Given the description of an element on the screen output the (x, y) to click on. 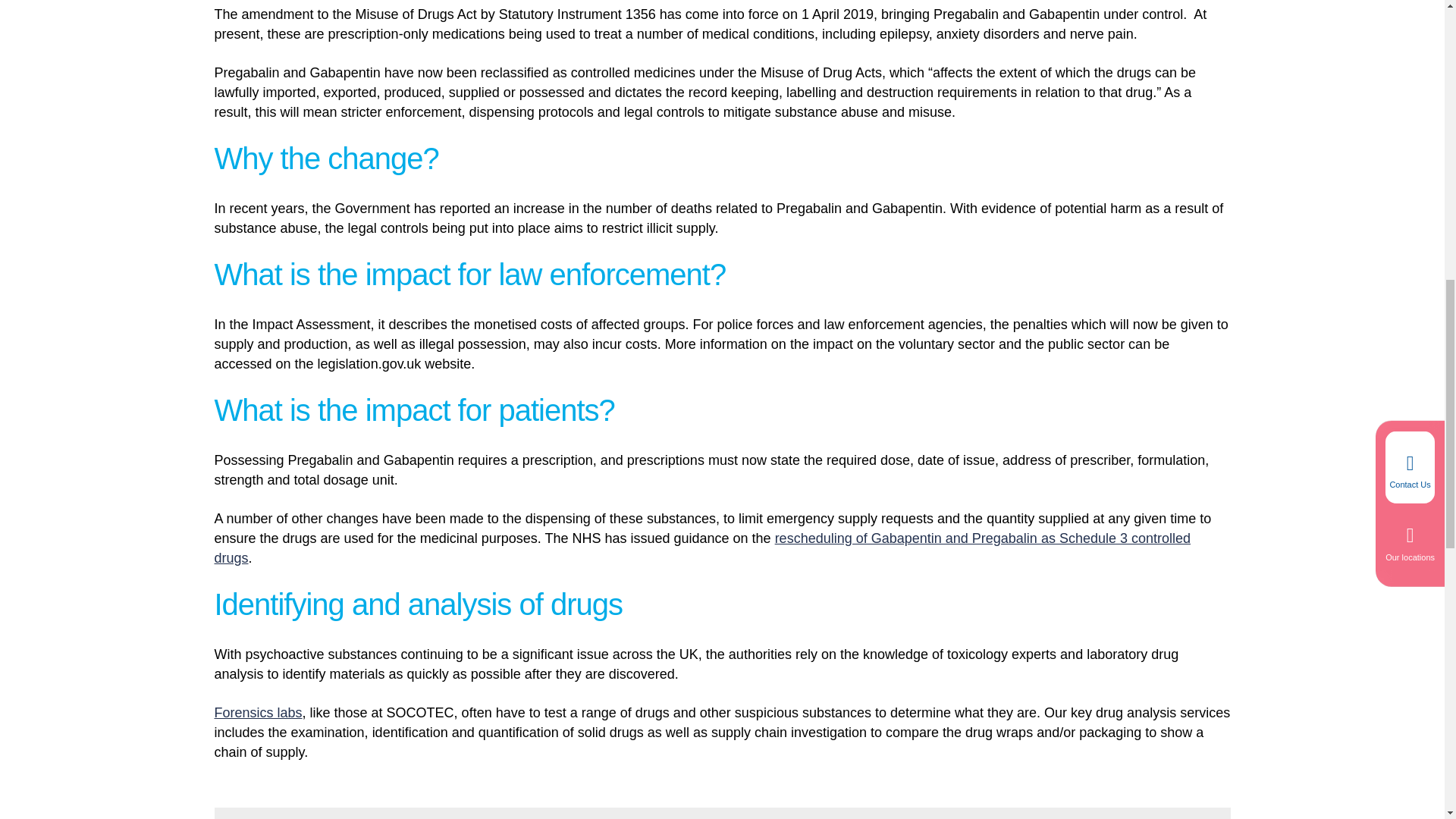
Rescheduling of Gabapentin and Pregabalin  (702, 547)
Forensic Labs (257, 712)
